Given the description of an element on the screen output the (x, y) to click on. 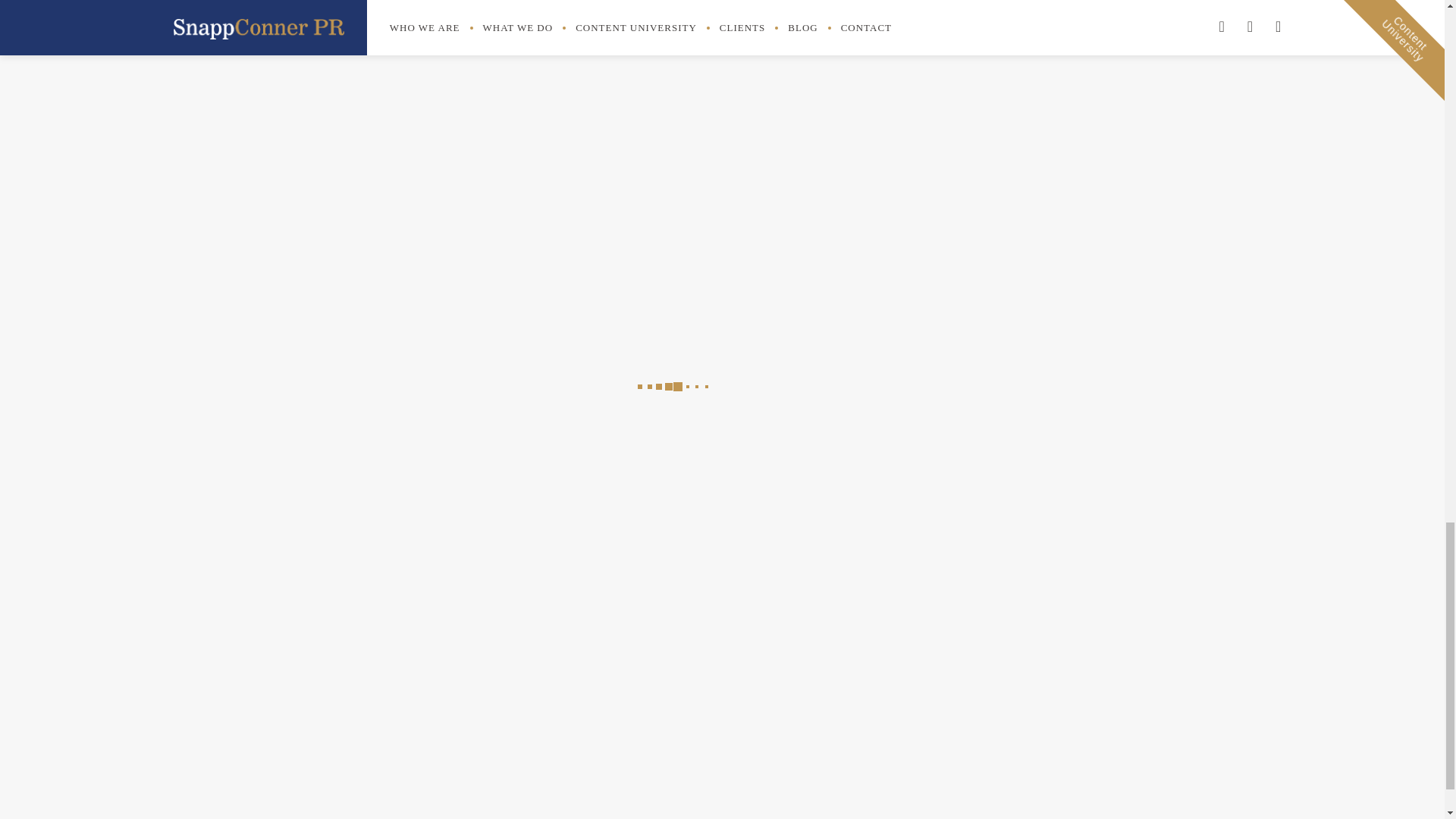
Go to Homepage (373, 731)
